Given the description of an element on the screen output the (x, y) to click on. 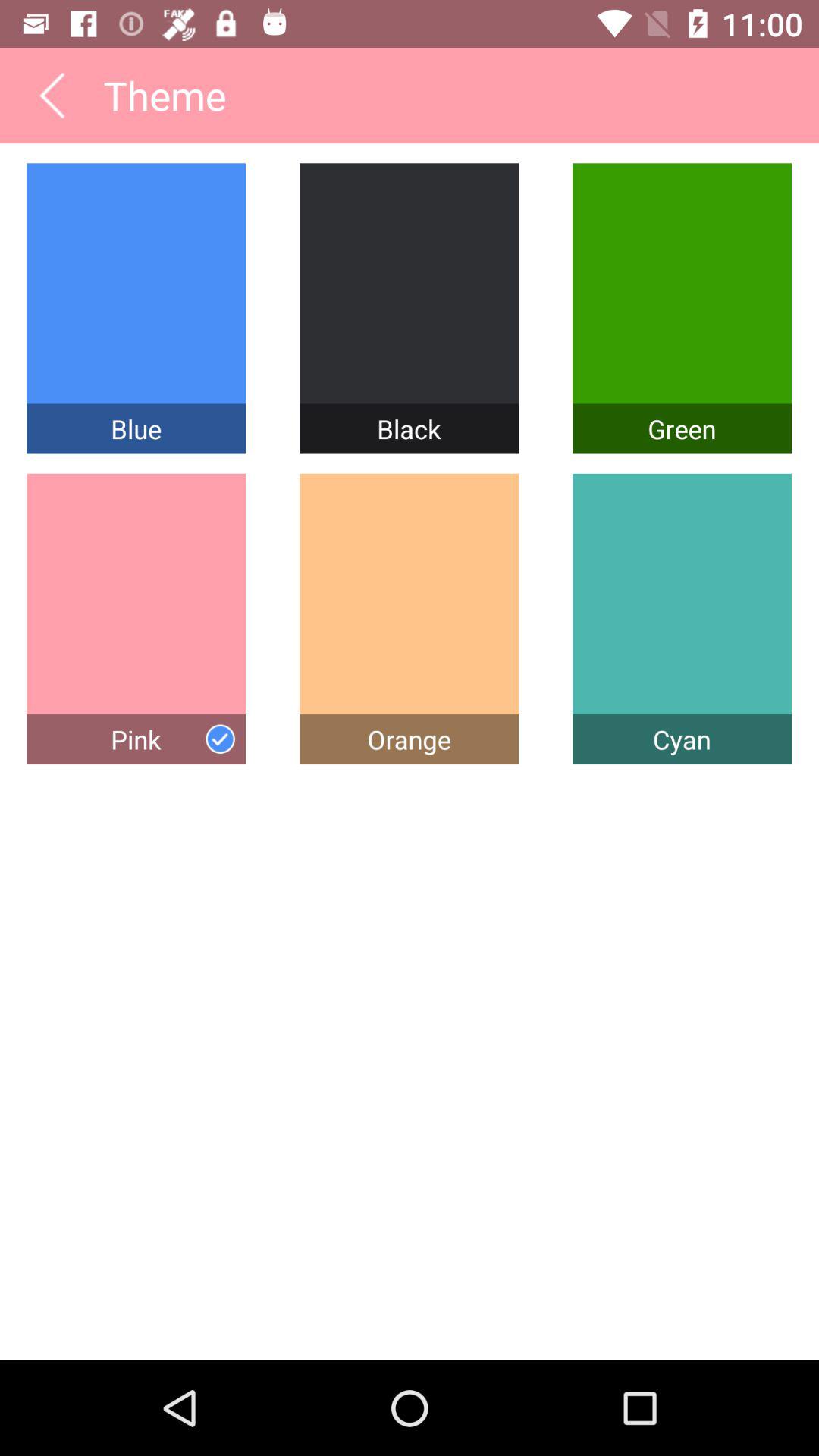
go back (51, 95)
